Given the description of an element on the screen output the (x, y) to click on. 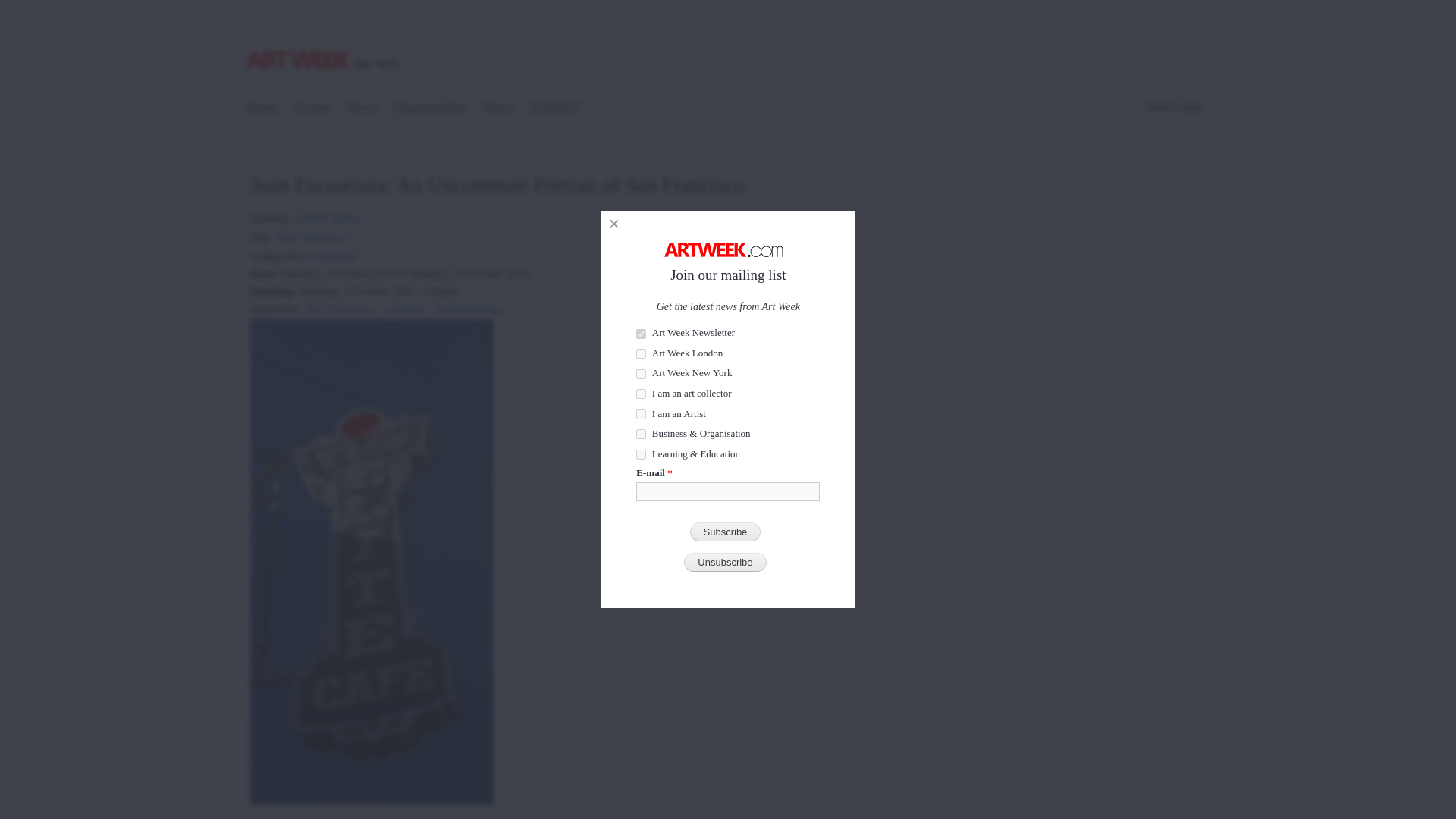
Subscribe (725, 531)
News (362, 109)
painting (404, 304)
Opportunities (430, 109)
30824 (641, 374)
Home (325, 43)
Events (313, 109)
Home (263, 109)
United States (327, 213)
SUBMIT (553, 109)
Skip to main content (695, 1)
17787 (641, 414)
729 (641, 334)
Exhibition (333, 251)
Unsubscribe (724, 561)
